Given the description of an element on the screen output the (x, y) to click on. 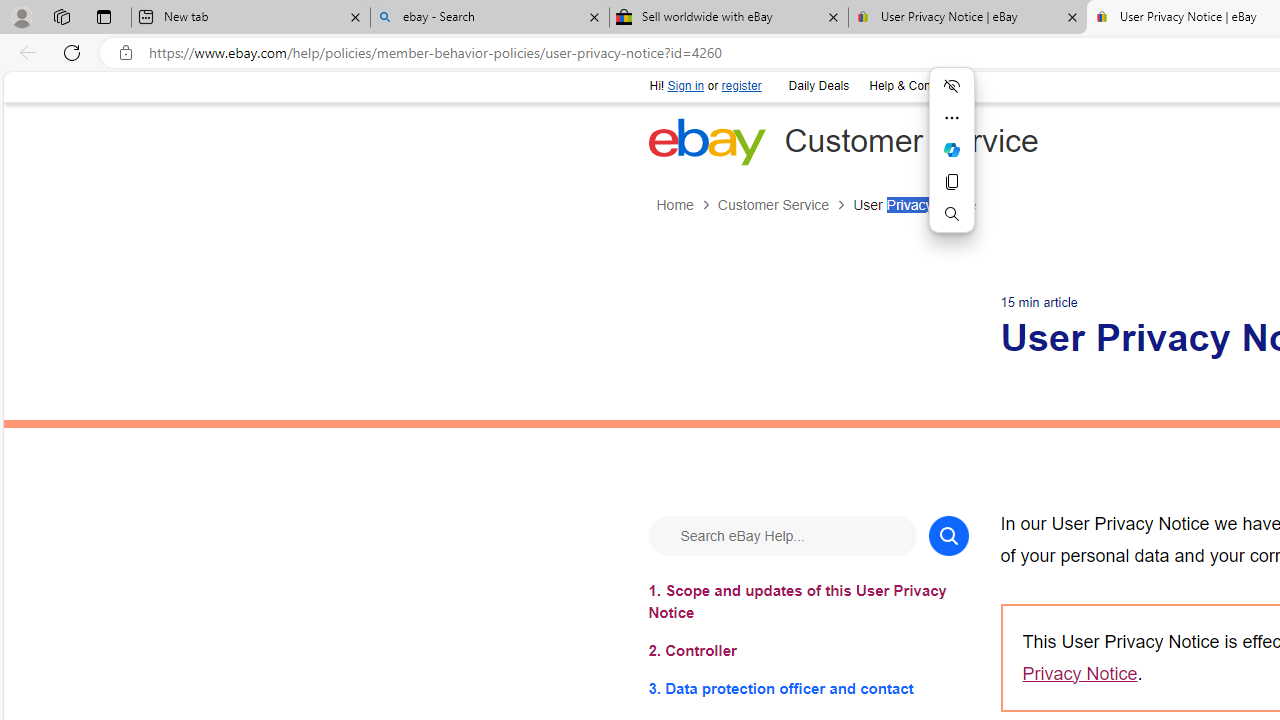
Sell worldwide with eBay (729, 17)
ebay - Search (490, 17)
3. Data protection officer and contact (807, 687)
2. Controller (807, 650)
Daily Deals (818, 86)
eBay Home (706, 141)
Daily Deals (817, 84)
Sign in (685, 85)
Customer Service (772, 205)
Home (674, 205)
